Given the description of an element on the screen output the (x, y) to click on. 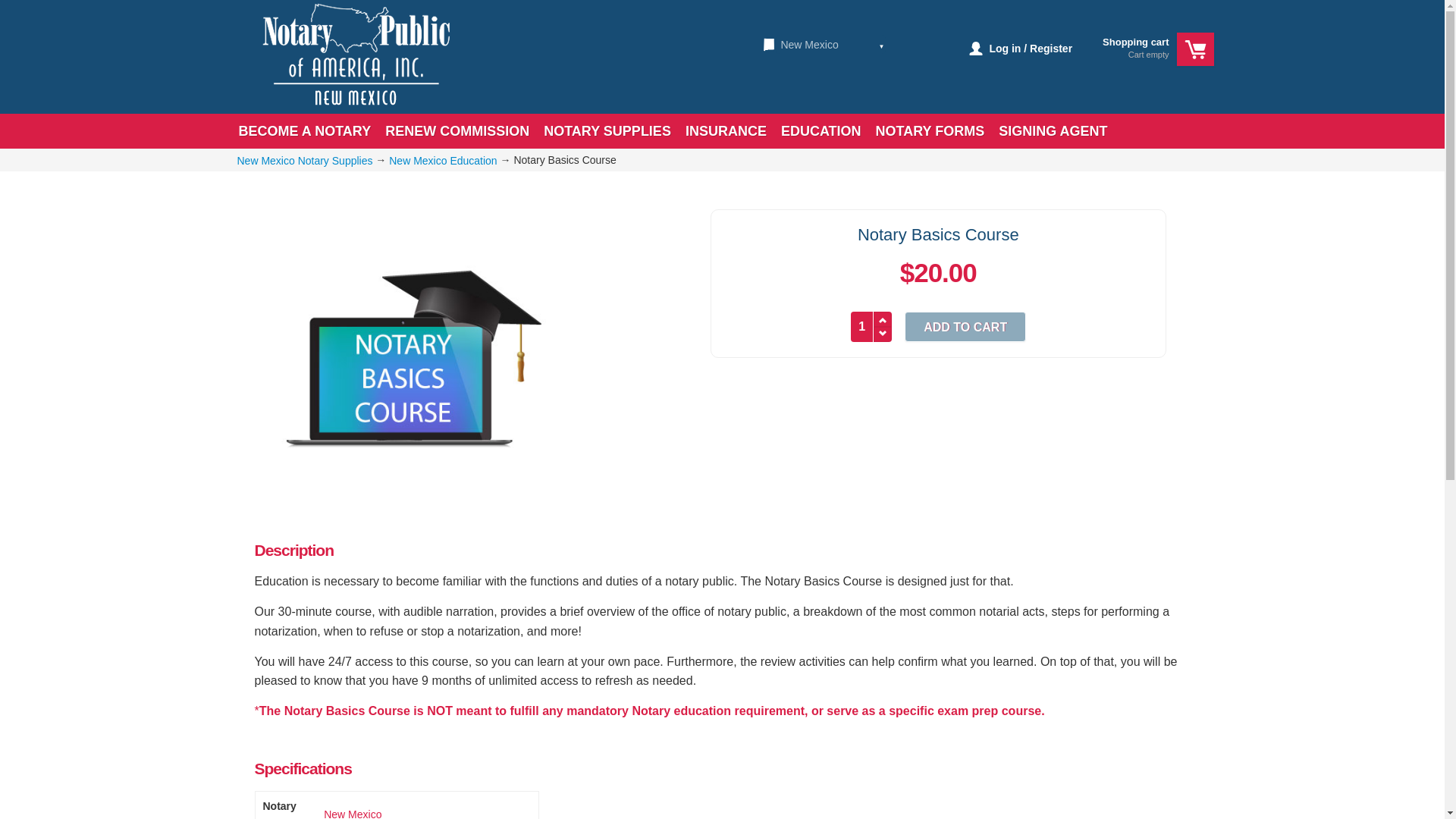
SIGNING AGENT (1053, 130)
New Mexico Notary Public Supplies (352, 813)
New Mexico Education (442, 159)
New Mexico Notary Supplies (303, 159)
Shopping cart (1135, 47)
Add to Cart (965, 327)
New Mexico Notaries (768, 44)
New Mexico Education (442, 159)
BECOME A NOTARY (304, 130)
EDUCATION (820, 130)
